Given the description of an element on the screen output the (x, y) to click on. 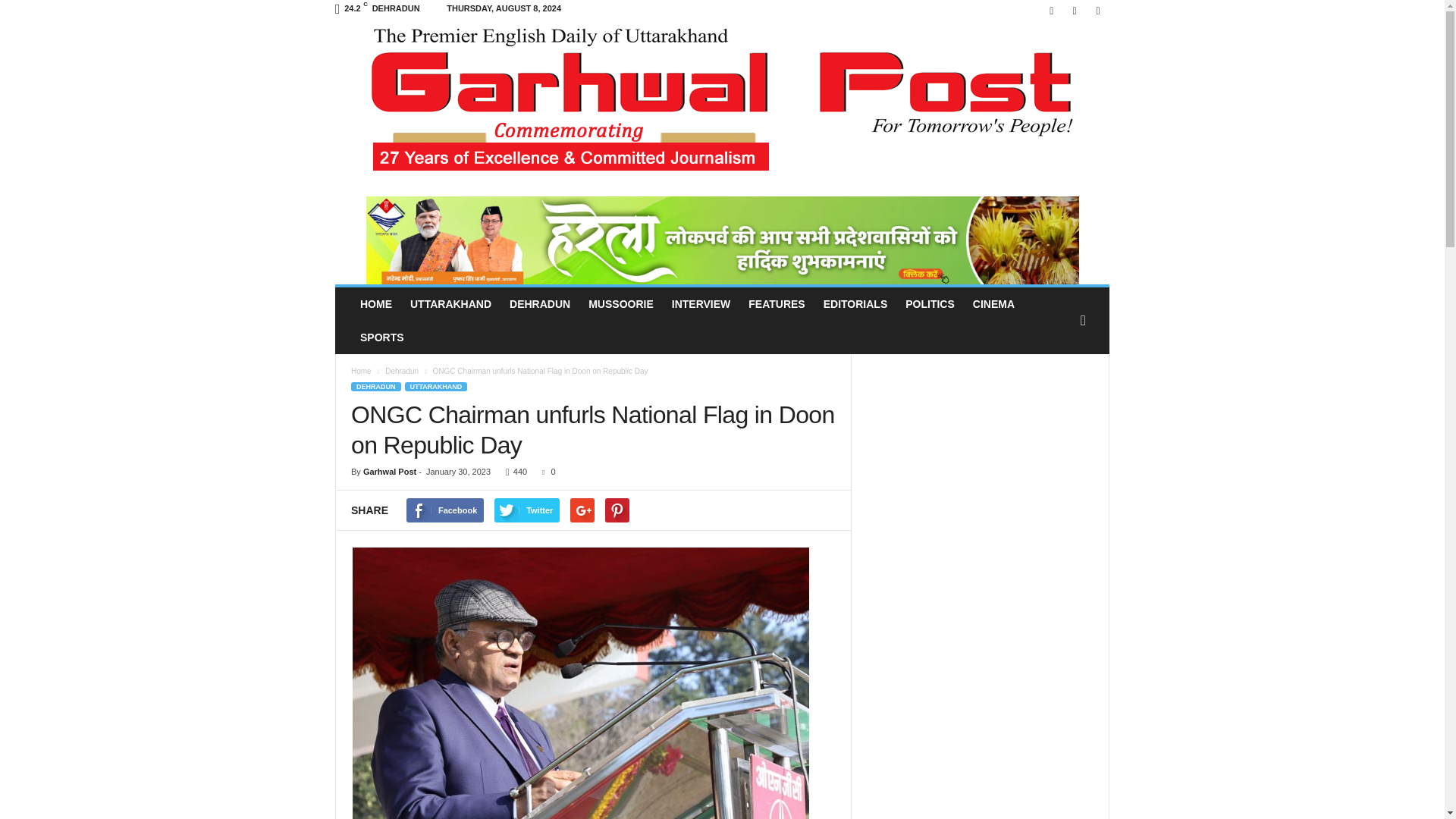
INTERVIEW (700, 304)
HOME (375, 304)
Dehradun (402, 370)
POLITICS (929, 304)
EDITORIALS (854, 304)
CINEMA (993, 304)
UTTARAKHAND (450, 304)
MUSSOORIE (620, 304)
RD ONGC (580, 682)
